Given the description of an element on the screen output the (x, y) to click on. 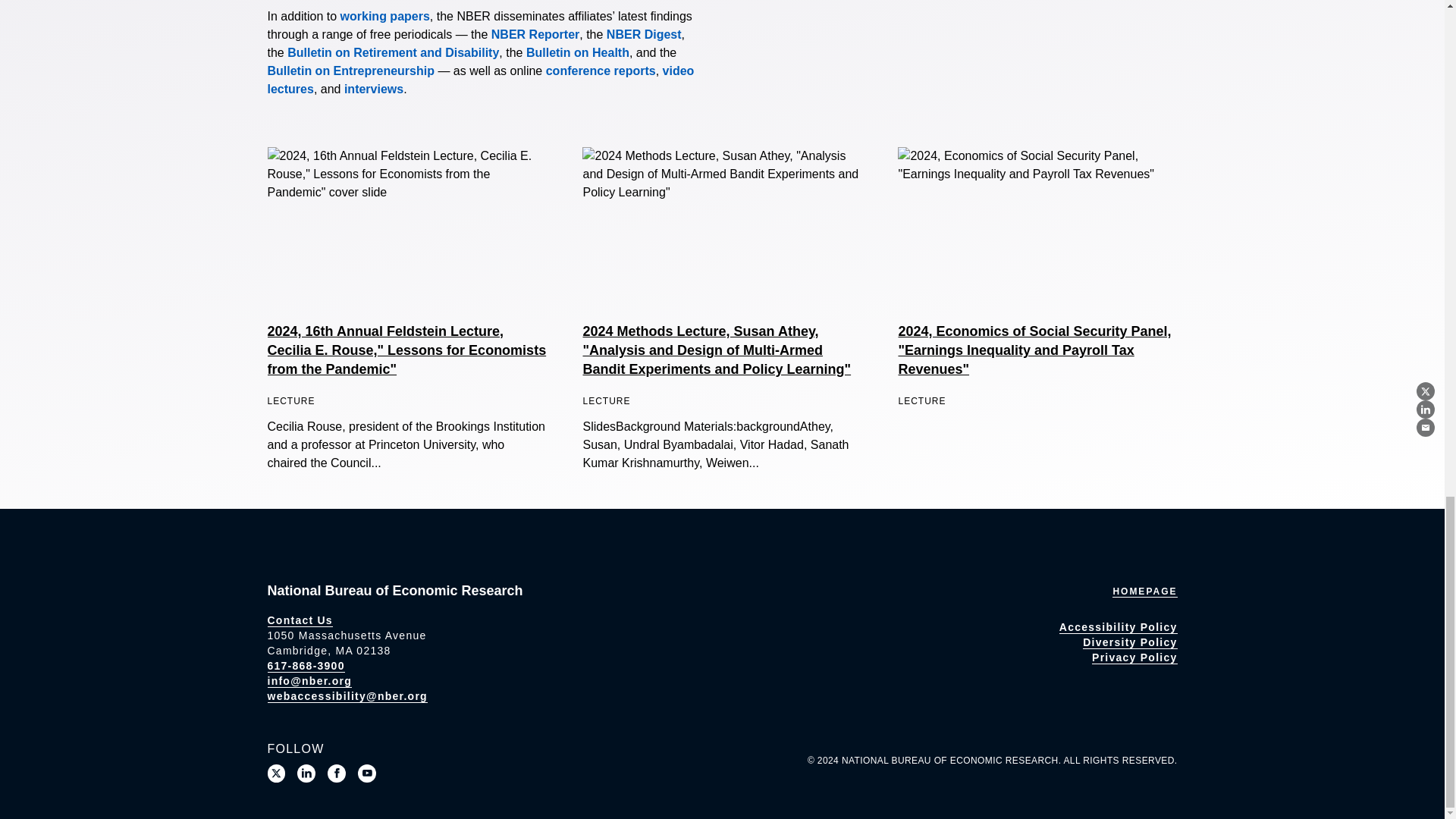
Working Papers (384, 15)
Research Spotlights (373, 88)
Conferences (601, 70)
Lectures (480, 79)
